Given the description of an element on the screen output the (x, y) to click on. 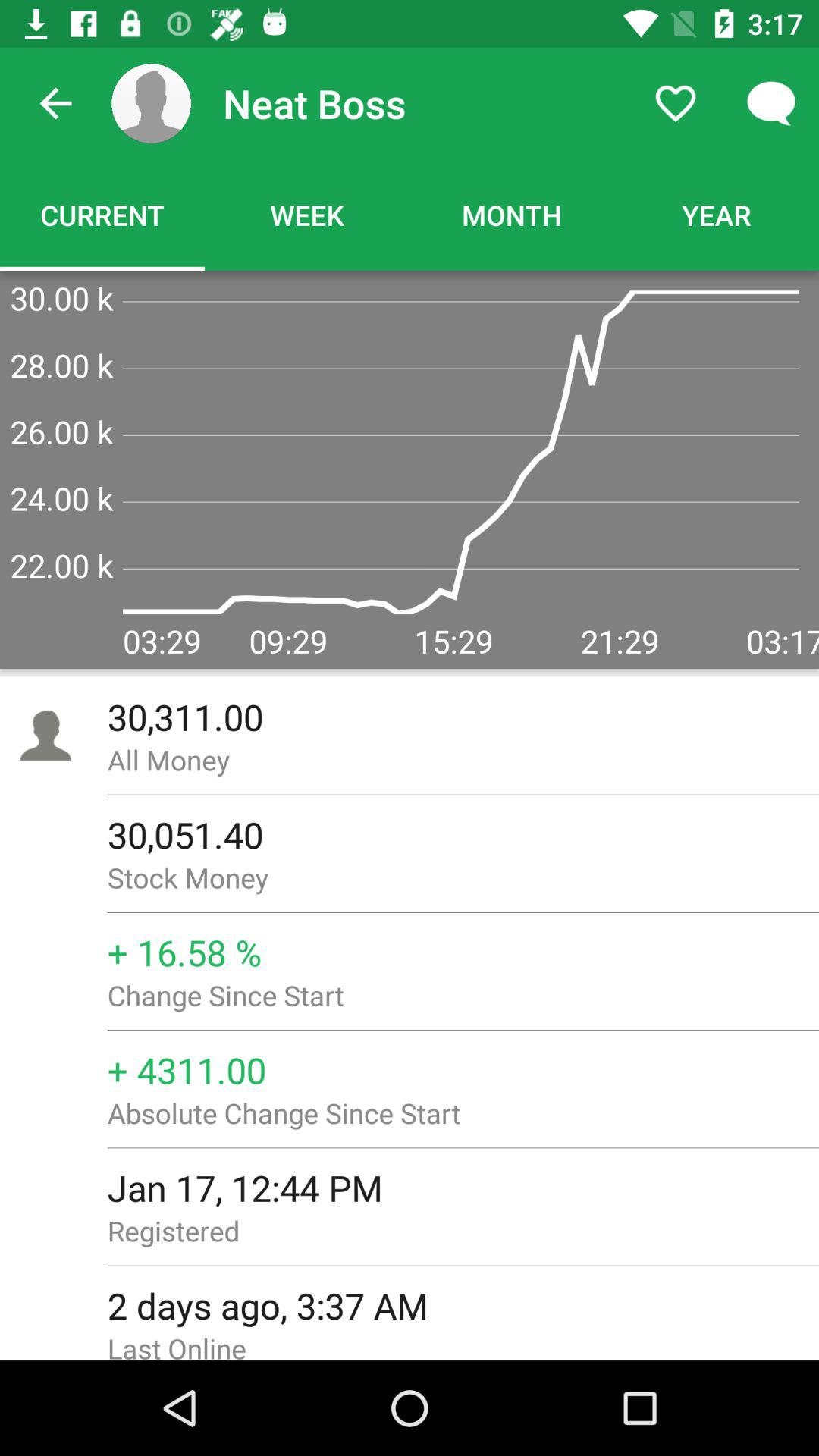
view profile (151, 103)
